Given the description of an element on the screen output the (x, y) to click on. 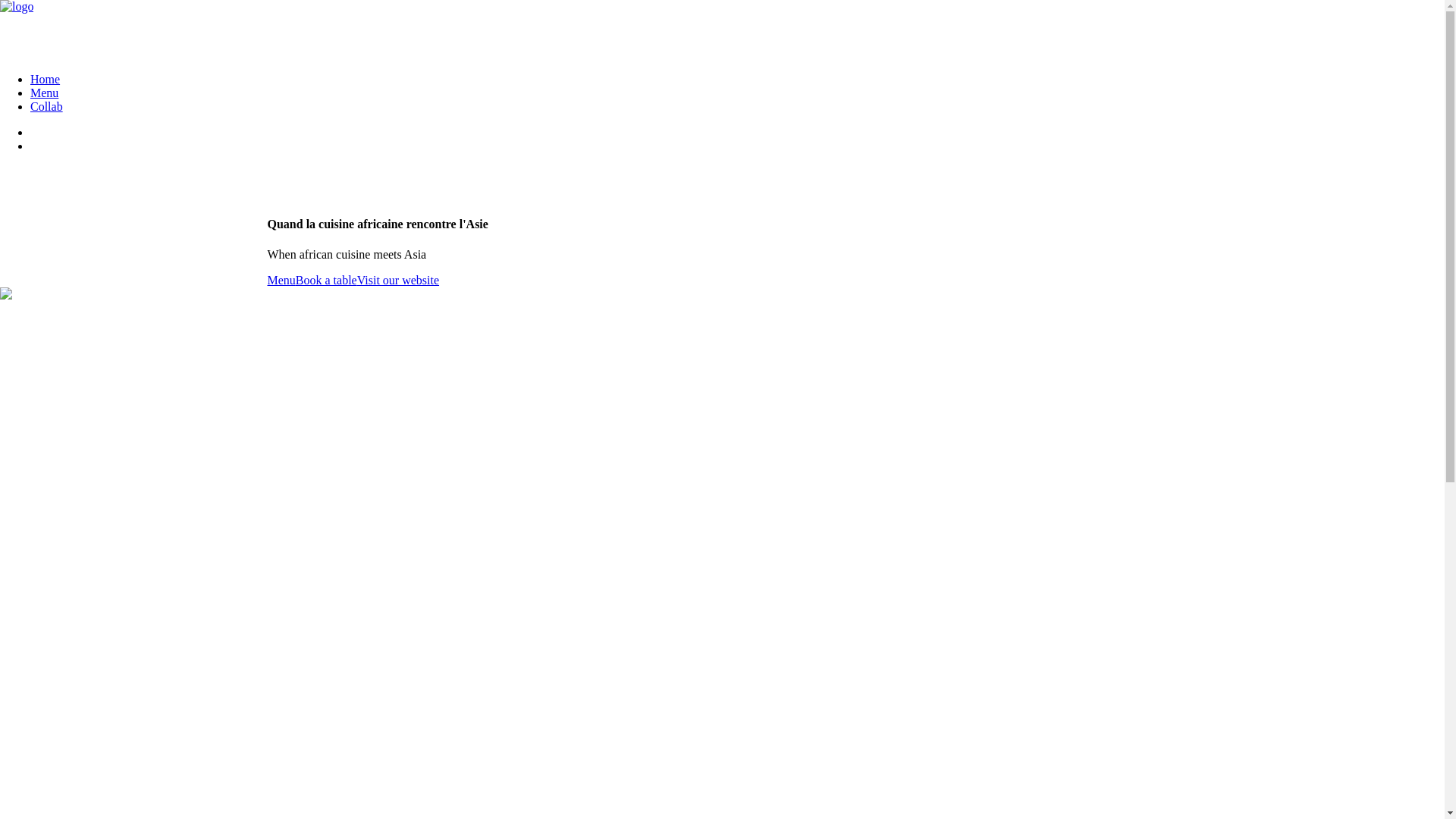
Home Element type: text (44, 78)
Collab Element type: text (46, 106)
Visit our website Element type: text (398, 279)
Book a table Element type: text (326, 279)
Menu Element type: text (280, 279)
Menu Element type: text (44, 92)
